Given the description of an element on the screen output the (x, y) to click on. 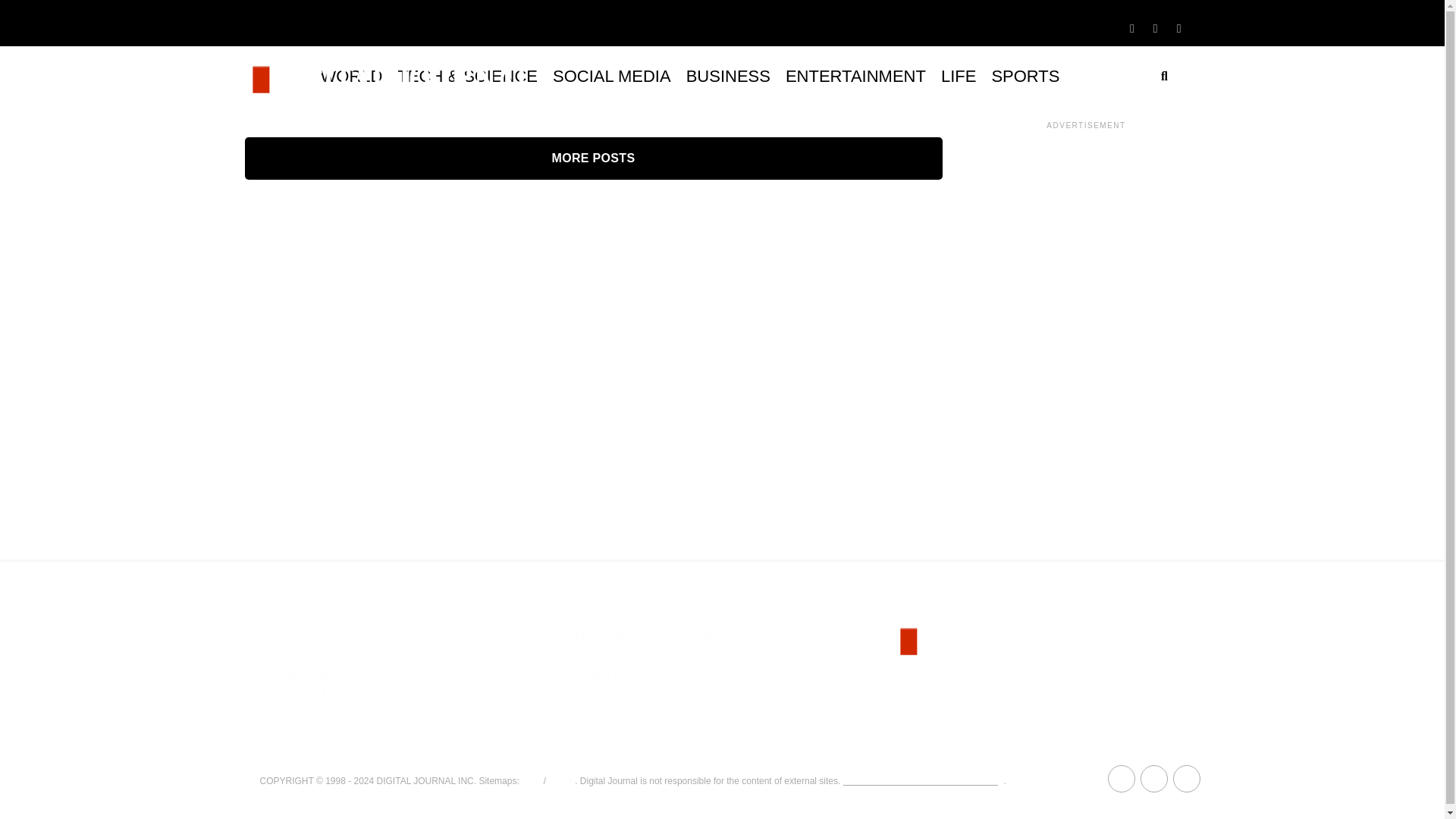
SPORTS (1025, 76)
ABOUT US (288, 635)
FEATURED: PRODIGY PRESS WIRE (677, 655)
XML (530, 779)
INSIGHT FORUM (304, 655)
PRIVACY POLICY (307, 714)
TERMS OF USE (301, 694)
SPONSORED CONTENT (326, 675)
ALL PRESS RELEASES (641, 694)
FEATURED: ACCESSWIRE (651, 635)
